Given the description of an element on the screen output the (x, y) to click on. 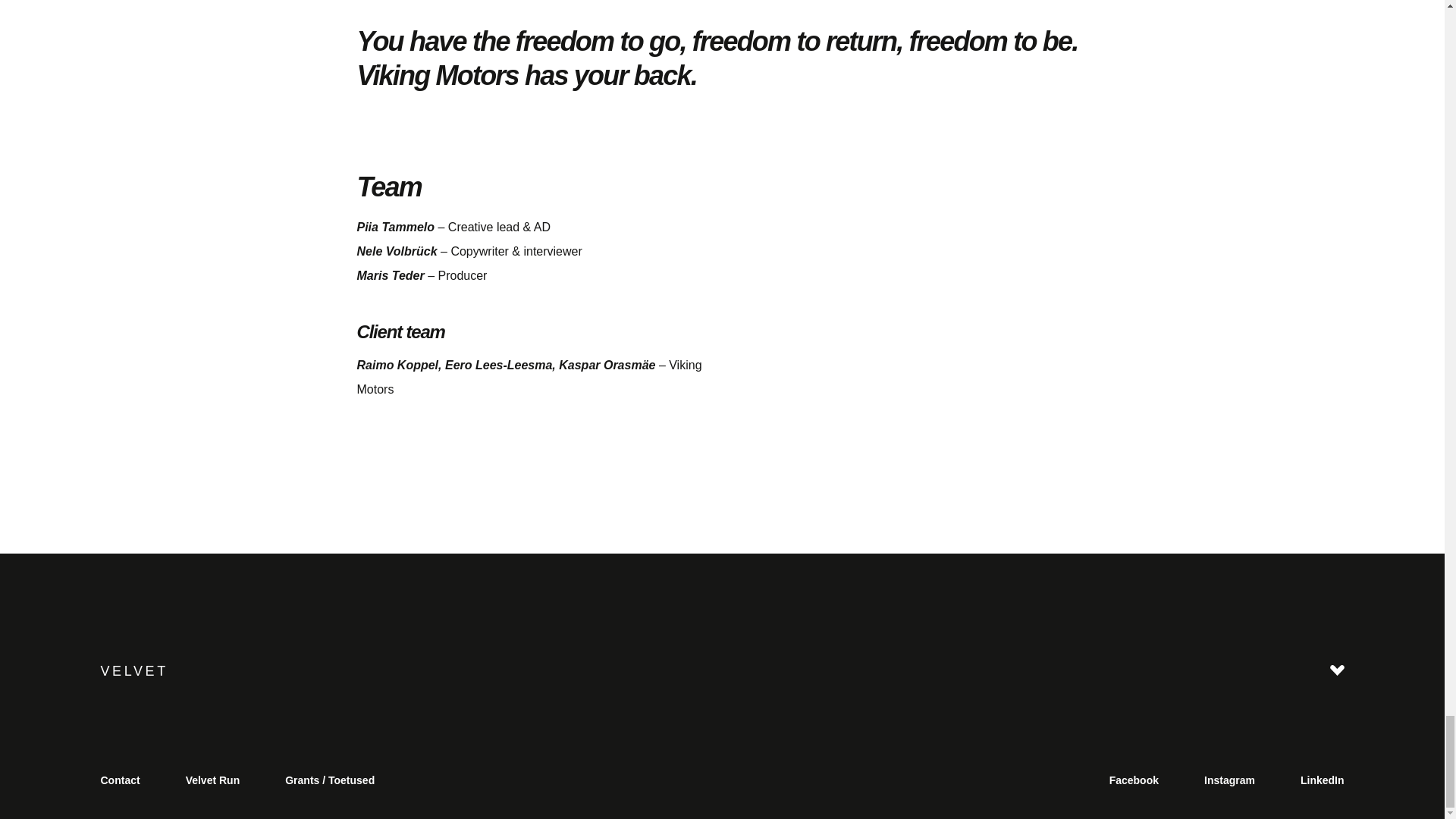
LinkedIn (1322, 780)
Velvet Run (213, 780)
Facebook (1133, 780)
Contact (119, 780)
Instagram (1229, 780)
